Given the description of an element on the screen output the (x, y) to click on. 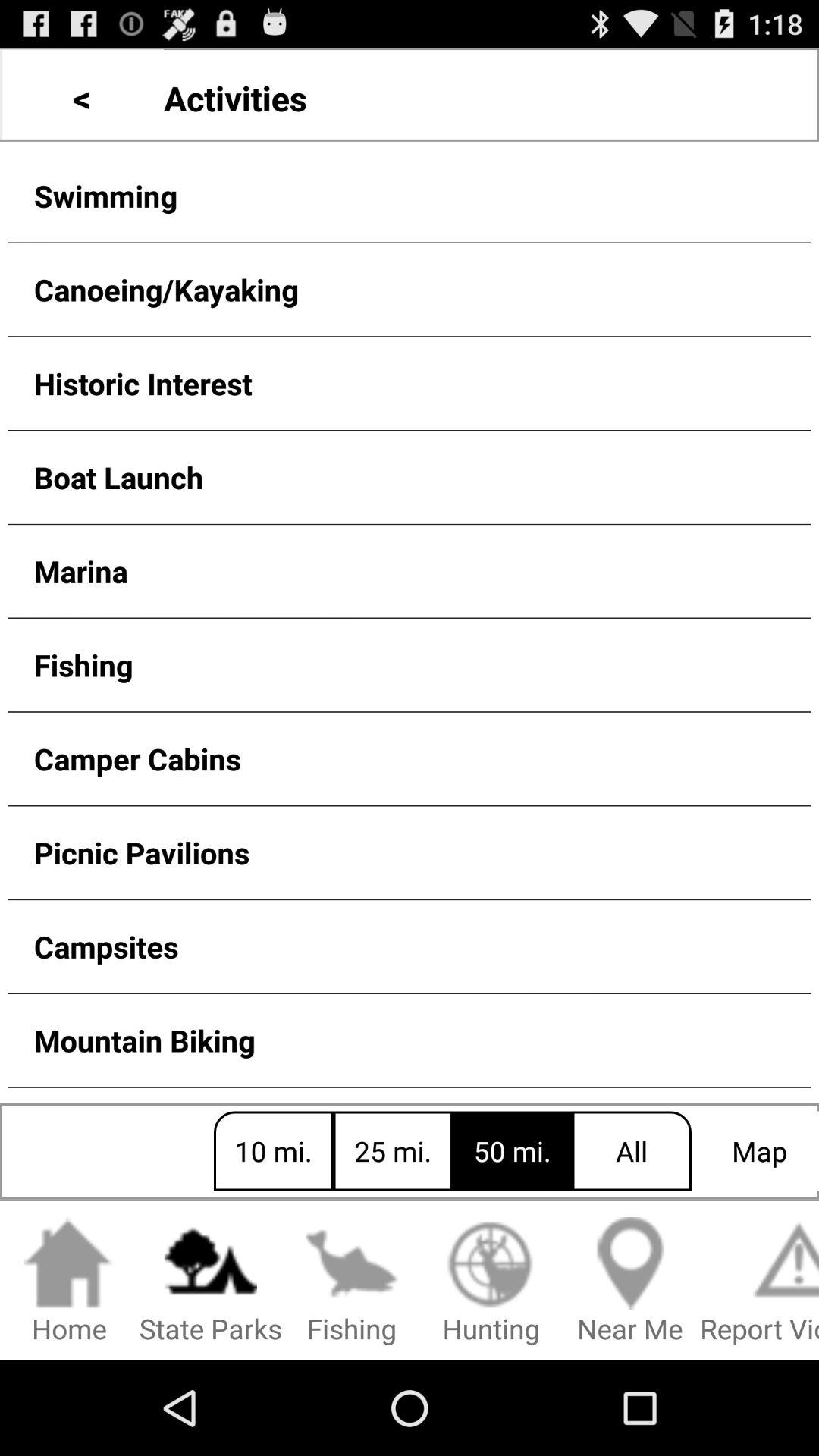
open item to the left of the report violation item (630, 1282)
